Given the description of an element on the screen output the (x, y) to click on. 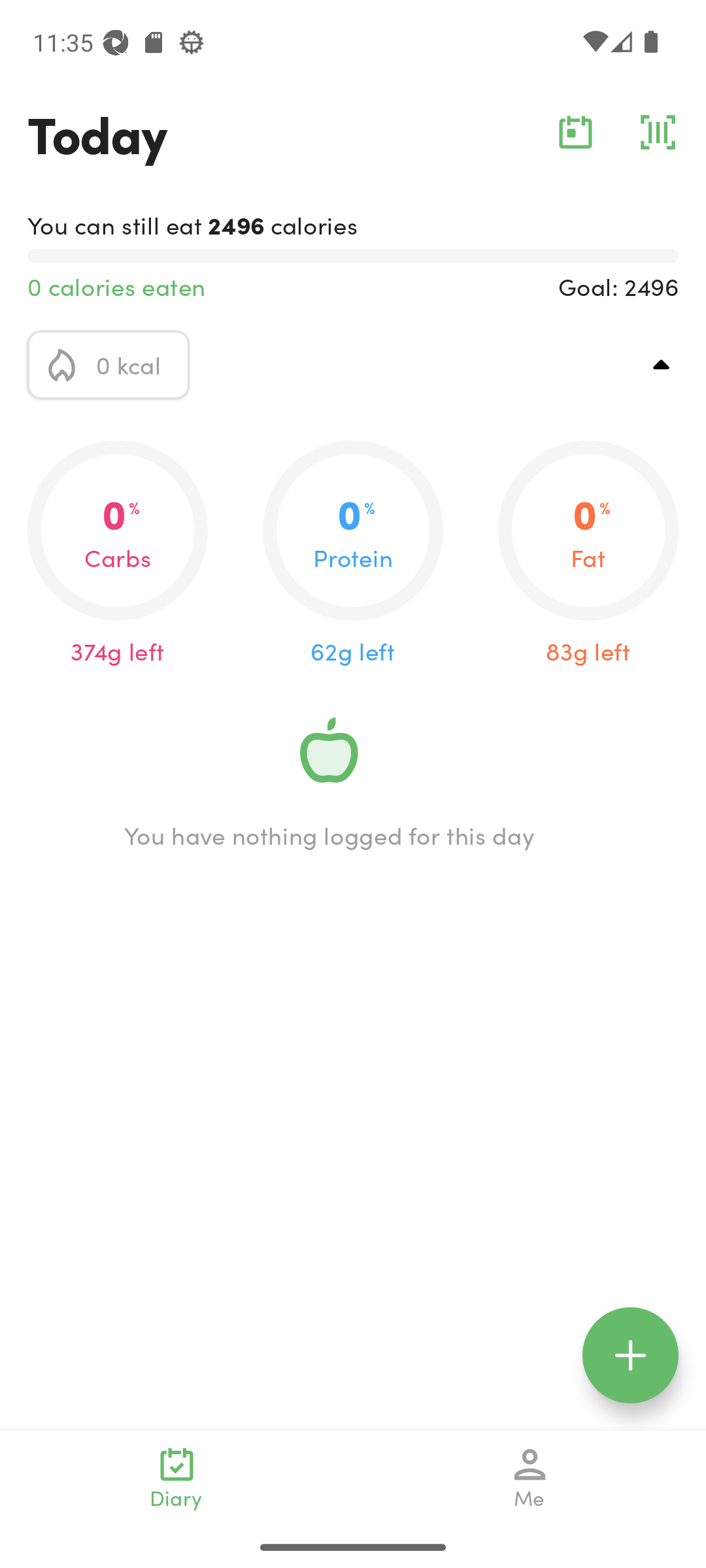
calendar_action (575, 132)
barcode_action (658, 132)
calorie_icon 0 kcal (108, 365)
top_right_action (661, 365)
0.0 0 % Carbs 374g left (117, 553)
0.0 0 % Protein 62g left (352, 553)
0.0 0 % Fat 83g left (588, 553)
floating_action_icon (630, 1355)
Me navigation_icon (529, 1478)
